Given the description of an element on the screen output the (x, y) to click on. 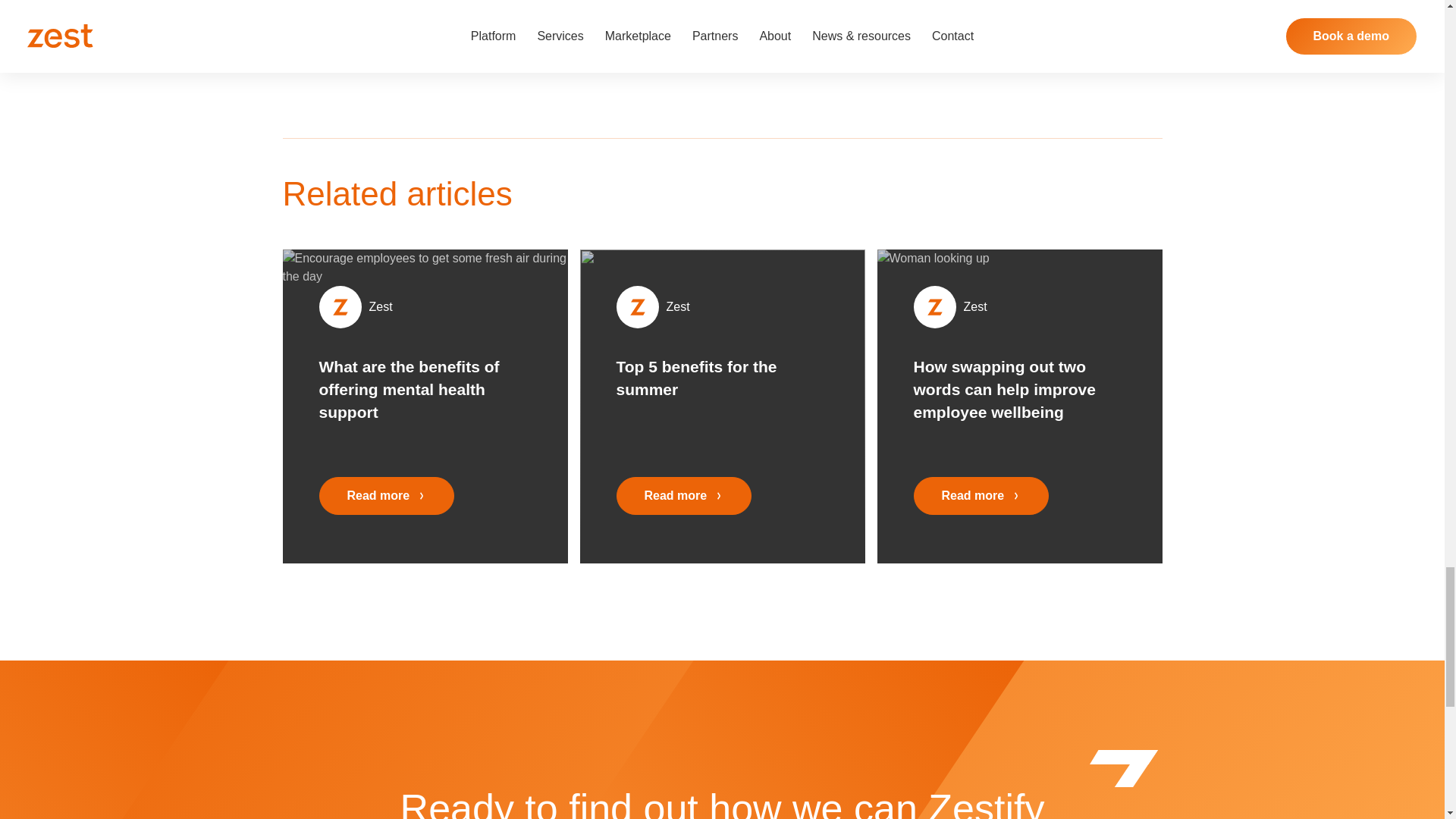
Read more (683, 495)
Read more (980, 495)
Read more (386, 495)
What are the benefits of offering mental health support (421, 389)
Top 5 benefits for the summer (718, 378)
